Given the description of an element on the screen output the (x, y) to click on. 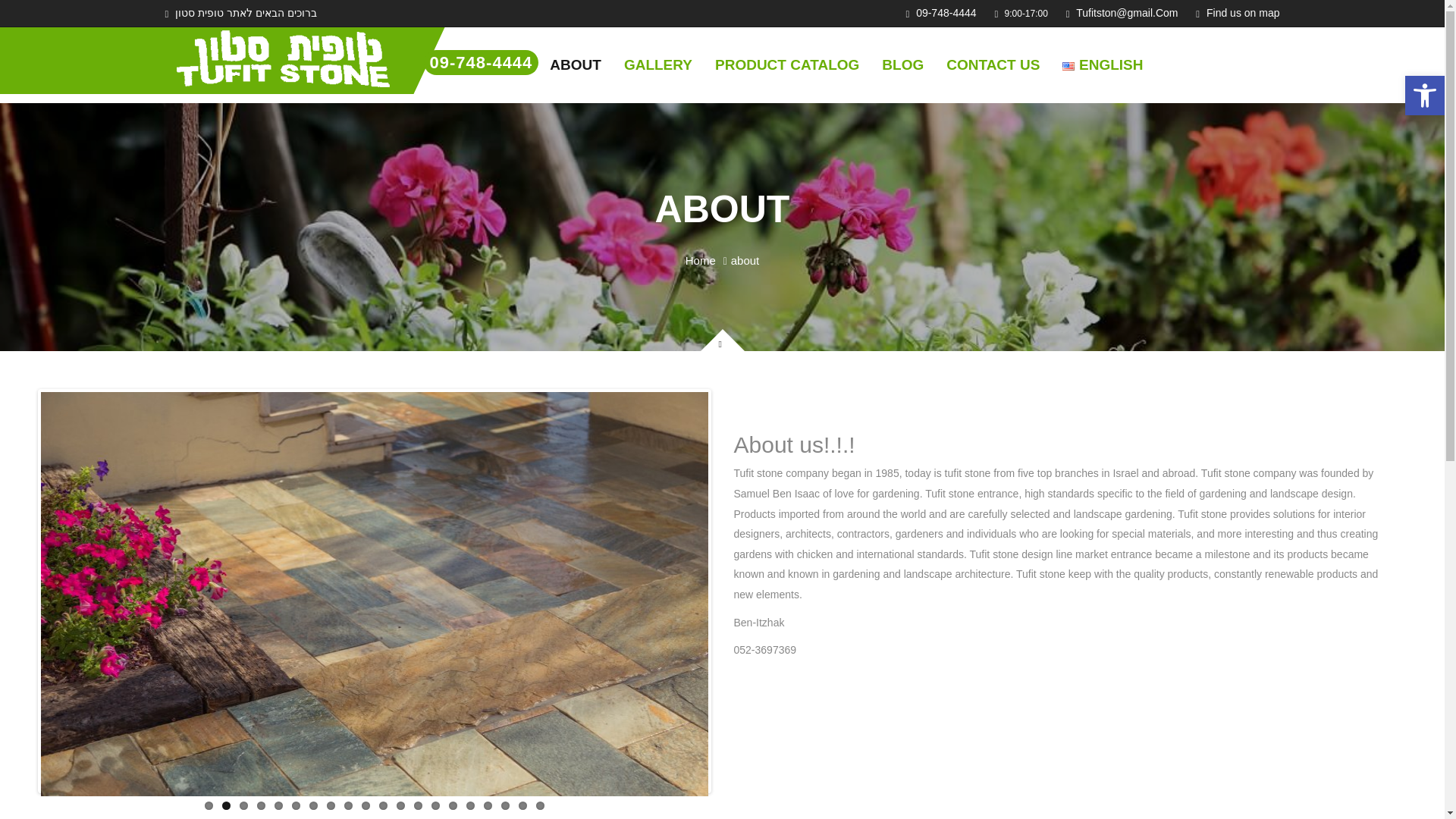
HOPE (279, 60)
BLOG (902, 64)
Home (700, 260)
09-748-4444 (480, 62)
ENGLISH (1102, 64)
CONTACT US (992, 64)
Accessibility Tools (1424, 95)
gallery (1424, 95)
Accessibility Tools (658, 64)
ABOUT (1424, 95)
PRODUCT CATALOG (575, 64)
Find us on map (786, 64)
GALLERY (1237, 12)
about (658, 64)
